Given the description of an element on the screen output the (x, y) to click on. 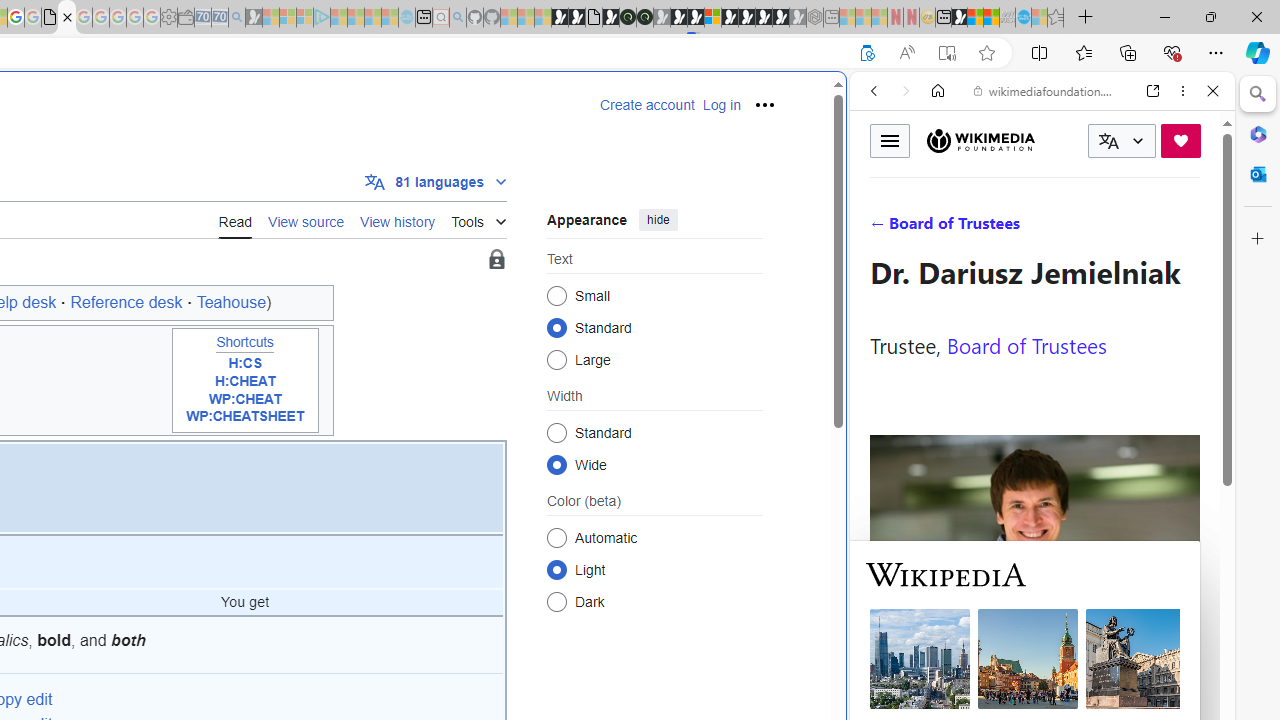
Close split screen (844, 102)
